Given the description of an element on the screen output the (x, y) to click on. 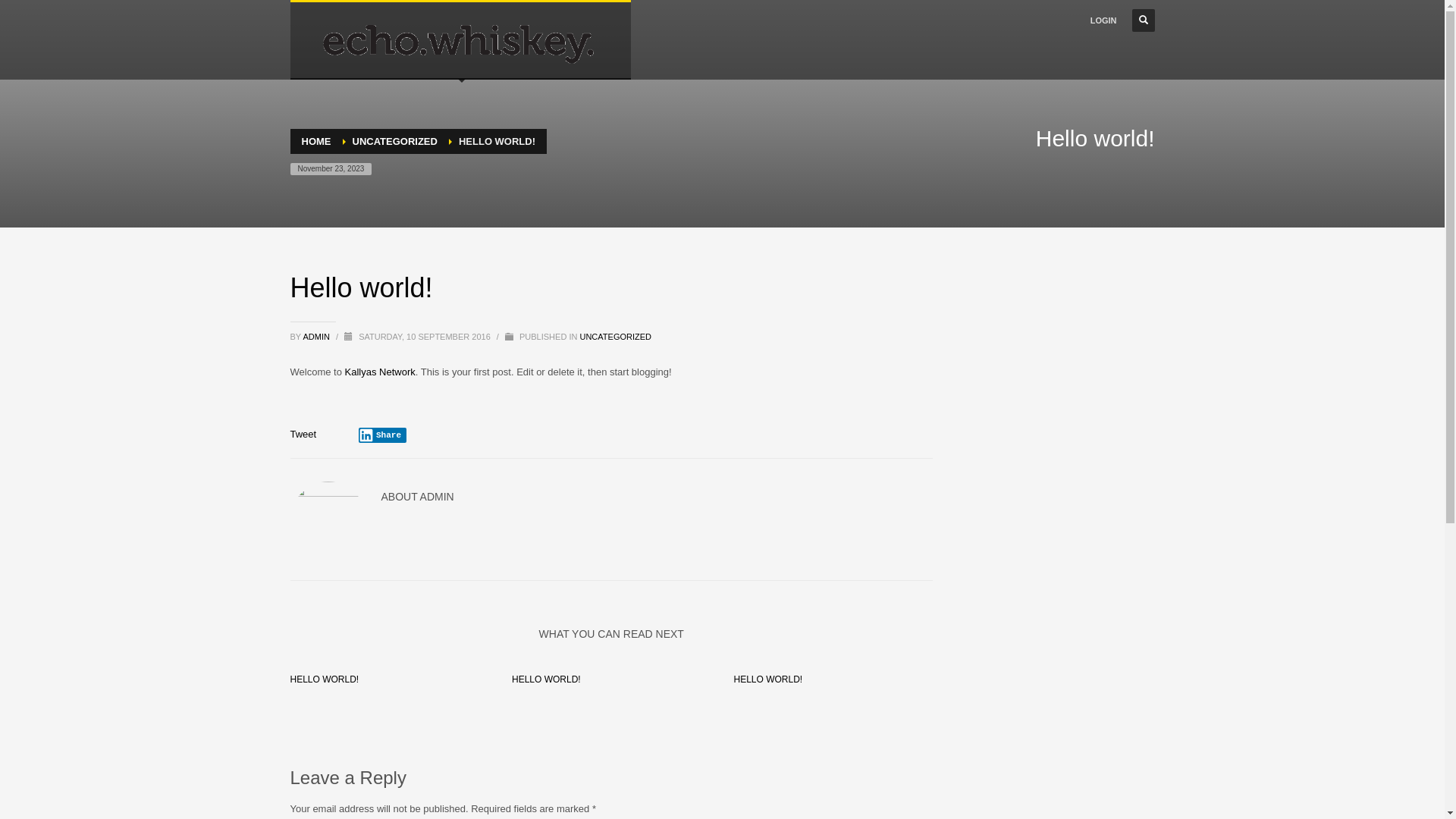
HELLO WORLD! Element type: text (767, 679)
HELLO WORLD! Element type: text (545, 679)
UNCATEGORIZED Element type: text (393, 141)
HOME Element type: text (316, 141)
HELLO WORLD! Element type: text (323, 679)
UNCATEGORIZED Element type: text (615, 336)
Kallyas Network Element type: text (380, 371)
Share Element type: text (381, 434)
LOGIN Element type: text (1103, 20)
Tweet Element type: text (302, 433)
ADMIN Element type: text (317, 336)
